Given the description of an element on the screen output the (x, y) to click on. 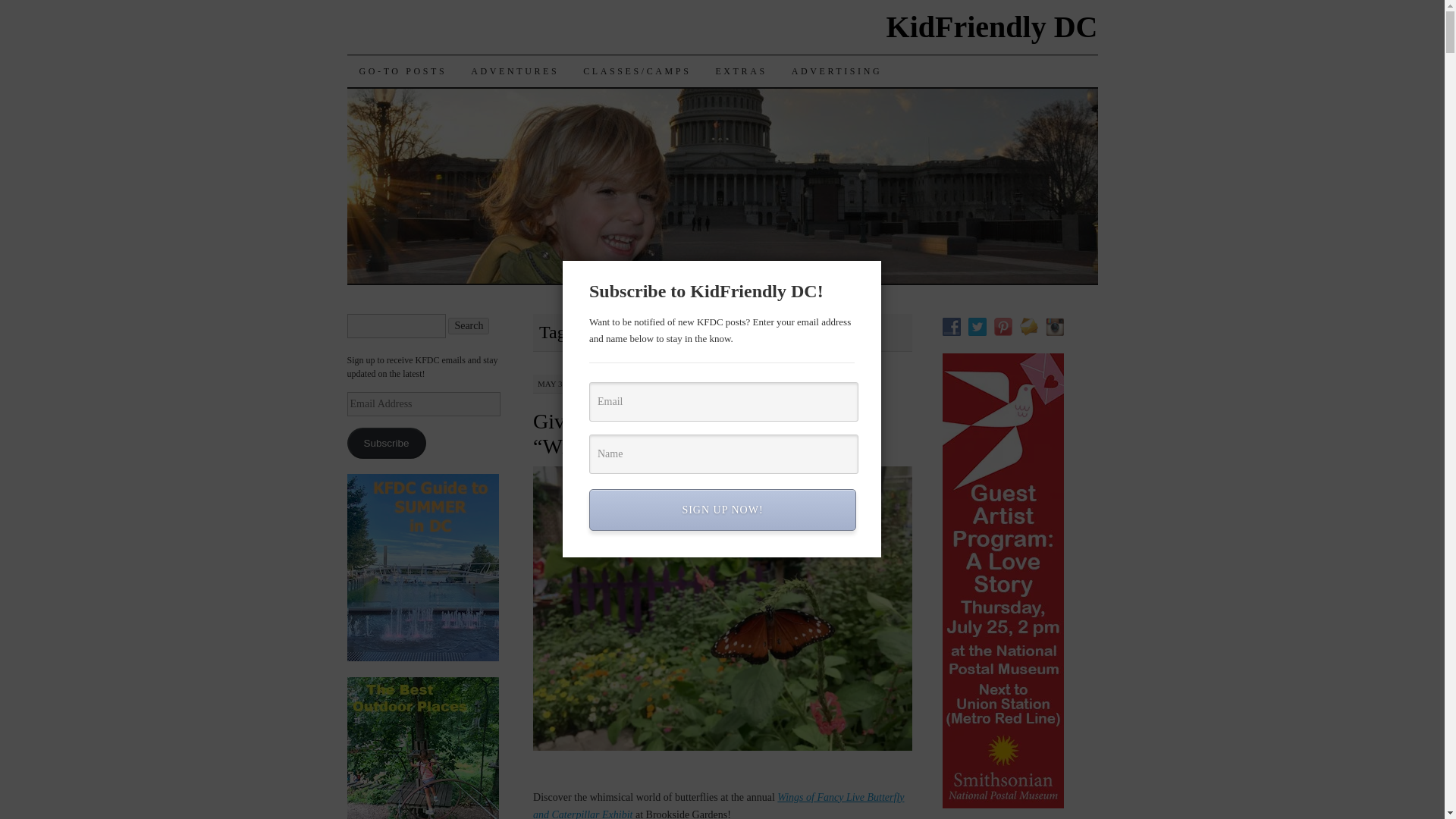
Search (468, 325)
ADVENTURES (514, 70)
Seasonal Fun (514, 70)
EXTRAS (740, 70)
Email (724, 401)
KidFriendly DC (991, 26)
KidFriendly DC (991, 26)
GO-TO POSTS (403, 70)
Name (724, 454)
